Given the description of an element on the screen output the (x, y) to click on. 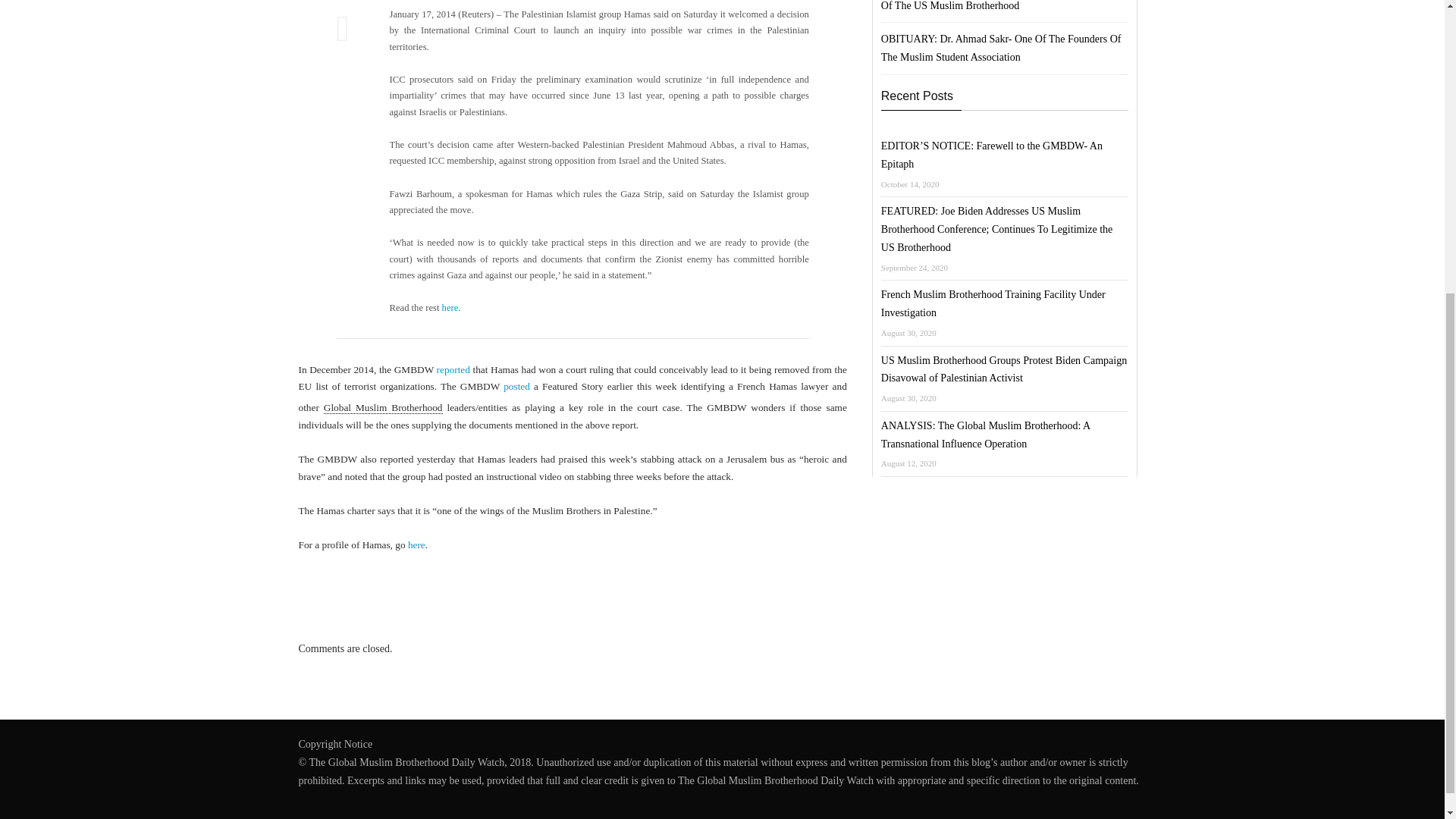
Global Muslim Brotherhood (382, 408)
posted (516, 386)
here (416, 544)
reported (453, 369)
here (450, 307)
